Given the description of an element on the screen output the (x, y) to click on. 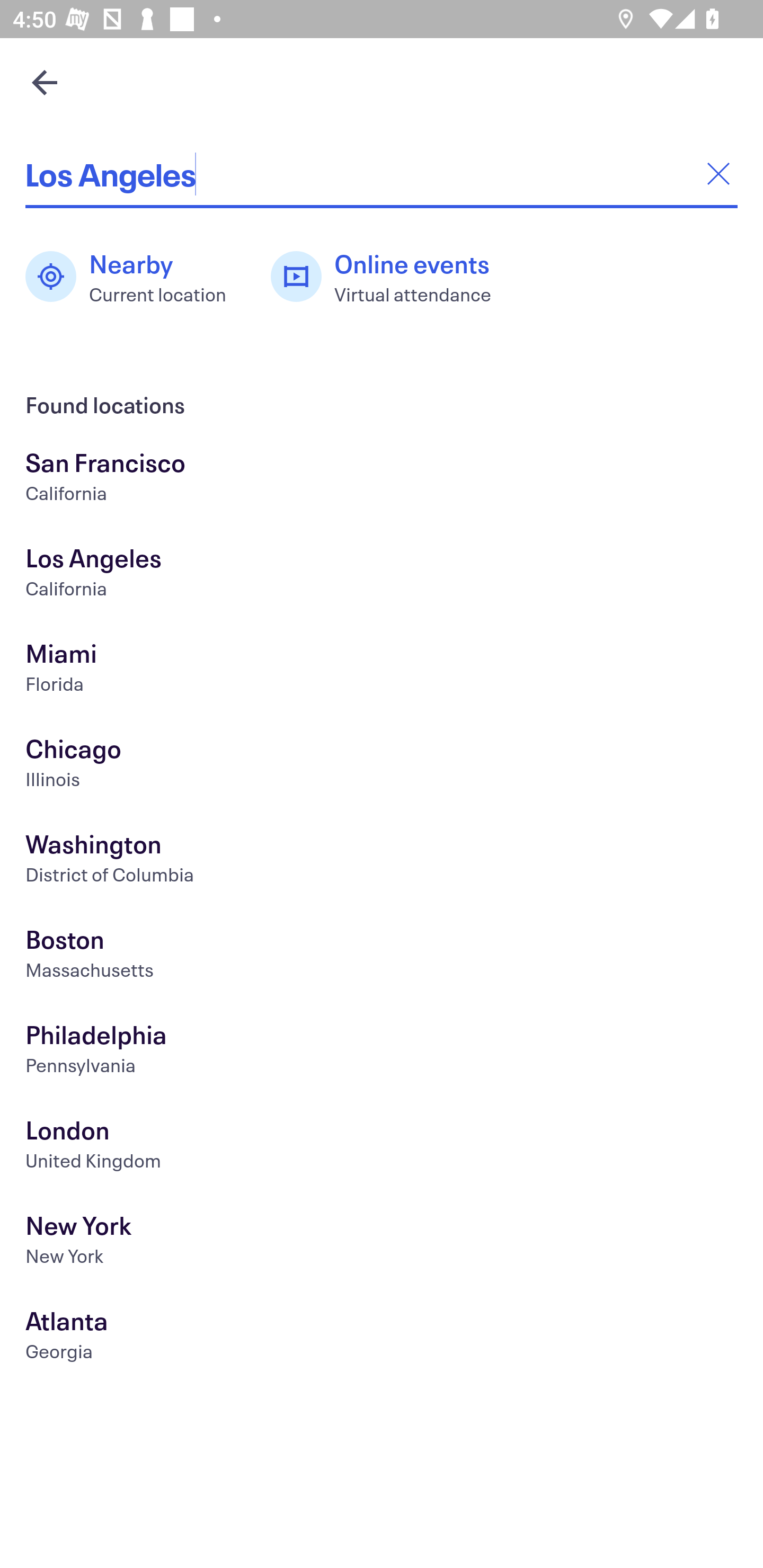
Navigate up (44, 82)
Los Angeles (381, 173)
Nearby Current location (135, 276)
Online events Virtual attendance (390, 276)
San Francisco California (381, 479)
Los Angeles California (381, 574)
Miami Florida (381, 670)
Chicago Illinois (381, 765)
Washington District of Columbia (381, 861)
Boston Massachusetts (381, 955)
Philadelphia Pennsylvania (381, 1051)
London United Kingdom (381, 1146)
New York (381, 1242)
Atlanta Georgia (381, 1338)
